Given the description of an element on the screen output the (x, y) to click on. 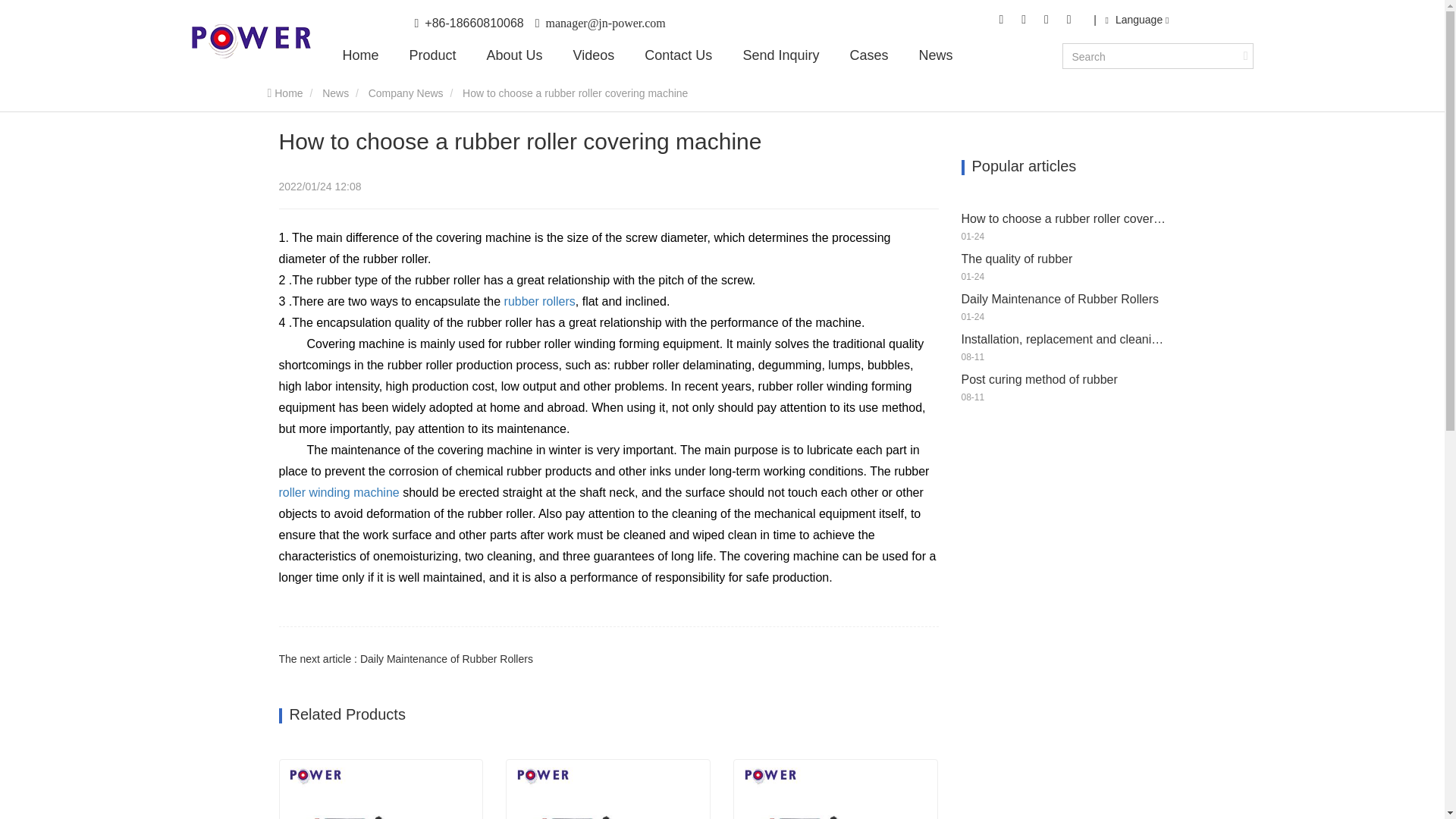
Home (360, 55)
Product (433, 55)
Product (433, 55)
Home (360, 55)
Home (250, 41)
